Given the description of an element on the screen output the (x, y) to click on. 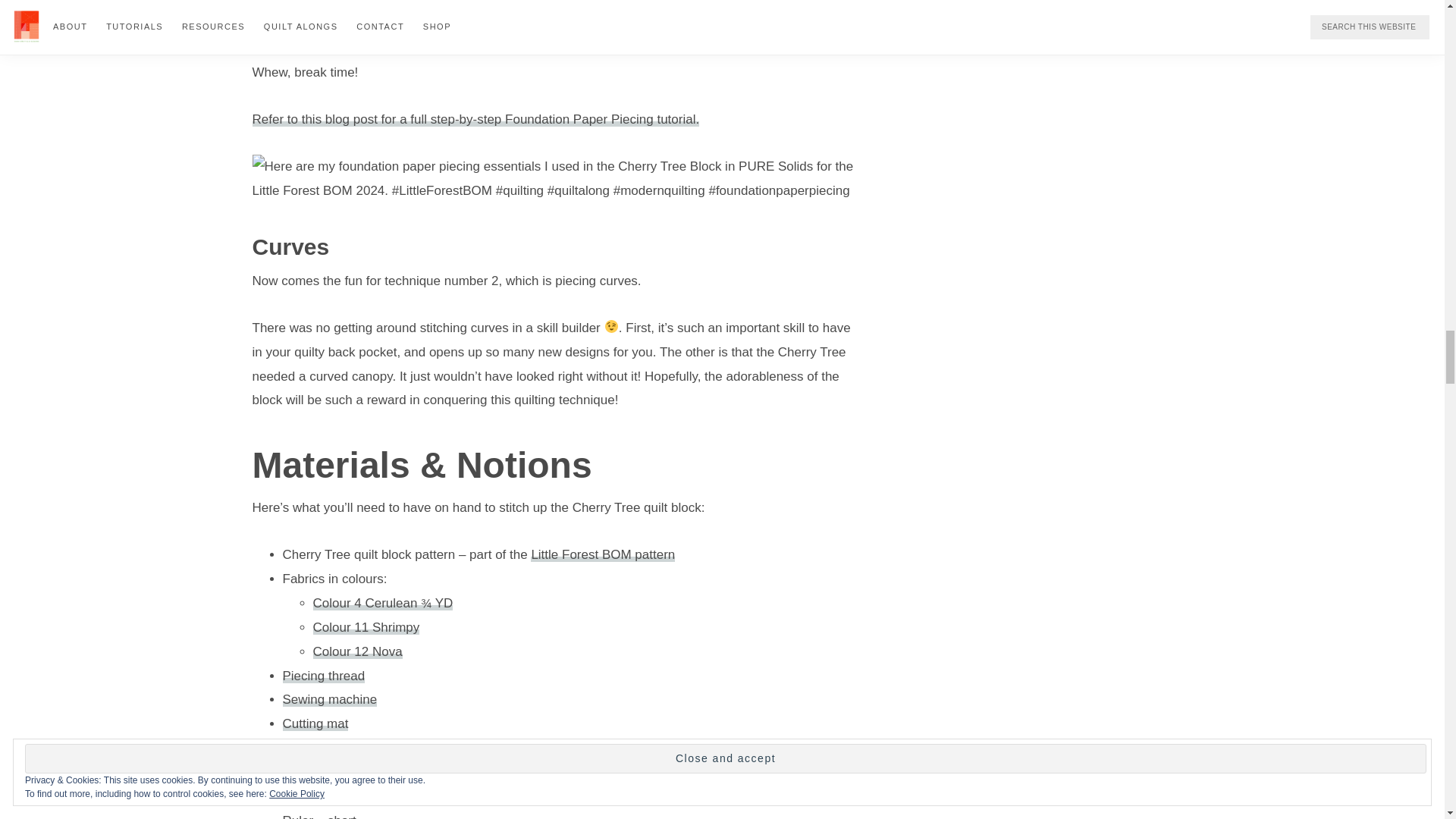
Little Forest BOM pattern (603, 554)
Colour 11 Shrimpy (366, 626)
Rotary cutter (318, 748)
Piecing thread (323, 676)
Colour 12 Nova (357, 651)
these blades (423, 748)
Sewing machine (329, 699)
Cutting mat (314, 723)
